Given the description of an element on the screen output the (x, y) to click on. 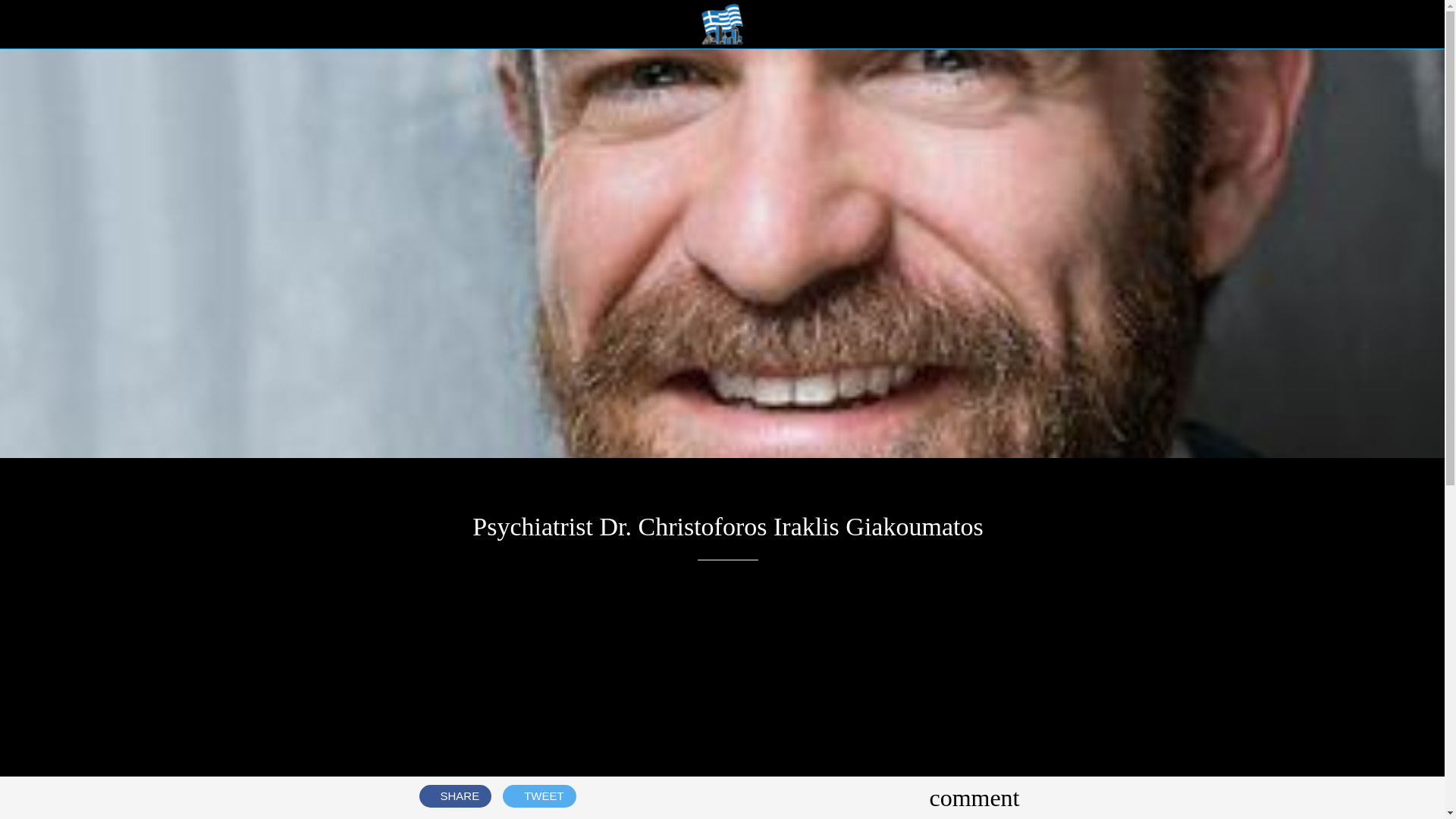
comment (974, 797)
TWEET (539, 794)
Psychiatrist Dr. Christoforos Iraklis Giakoumatos (722, 24)
SHARE (455, 794)
